Given the description of an element on the screen output the (x, y) to click on. 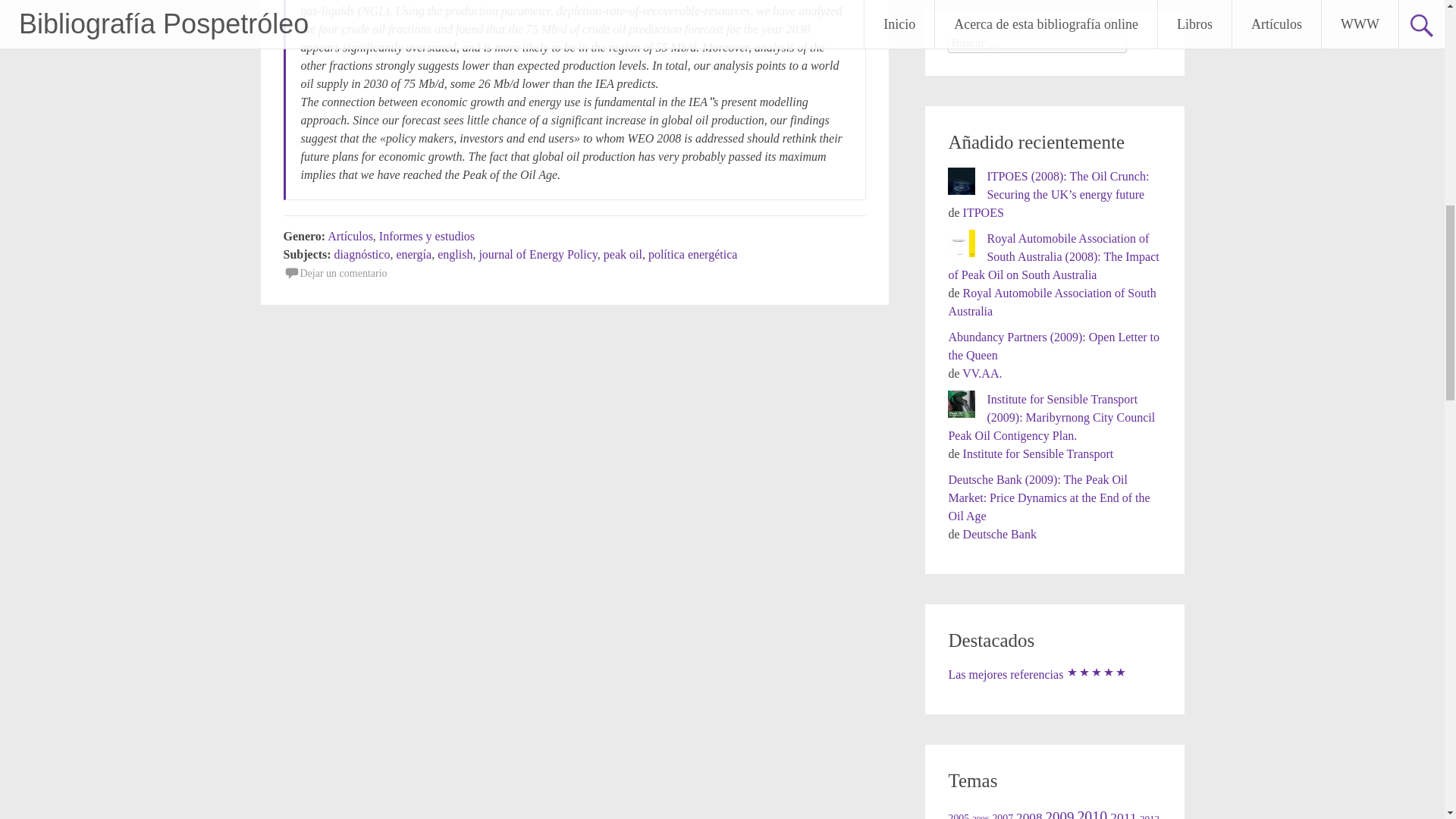
Deutsche Bank (999, 533)
2007 (1002, 816)
Las mejores referencias (1036, 674)
2008 (1029, 814)
Informes y estudios (426, 236)
english (454, 254)
2009 (1059, 814)
2005 (958, 816)
peak oil (623, 254)
2006 (980, 816)
